Given the description of an element on the screen output the (x, y) to click on. 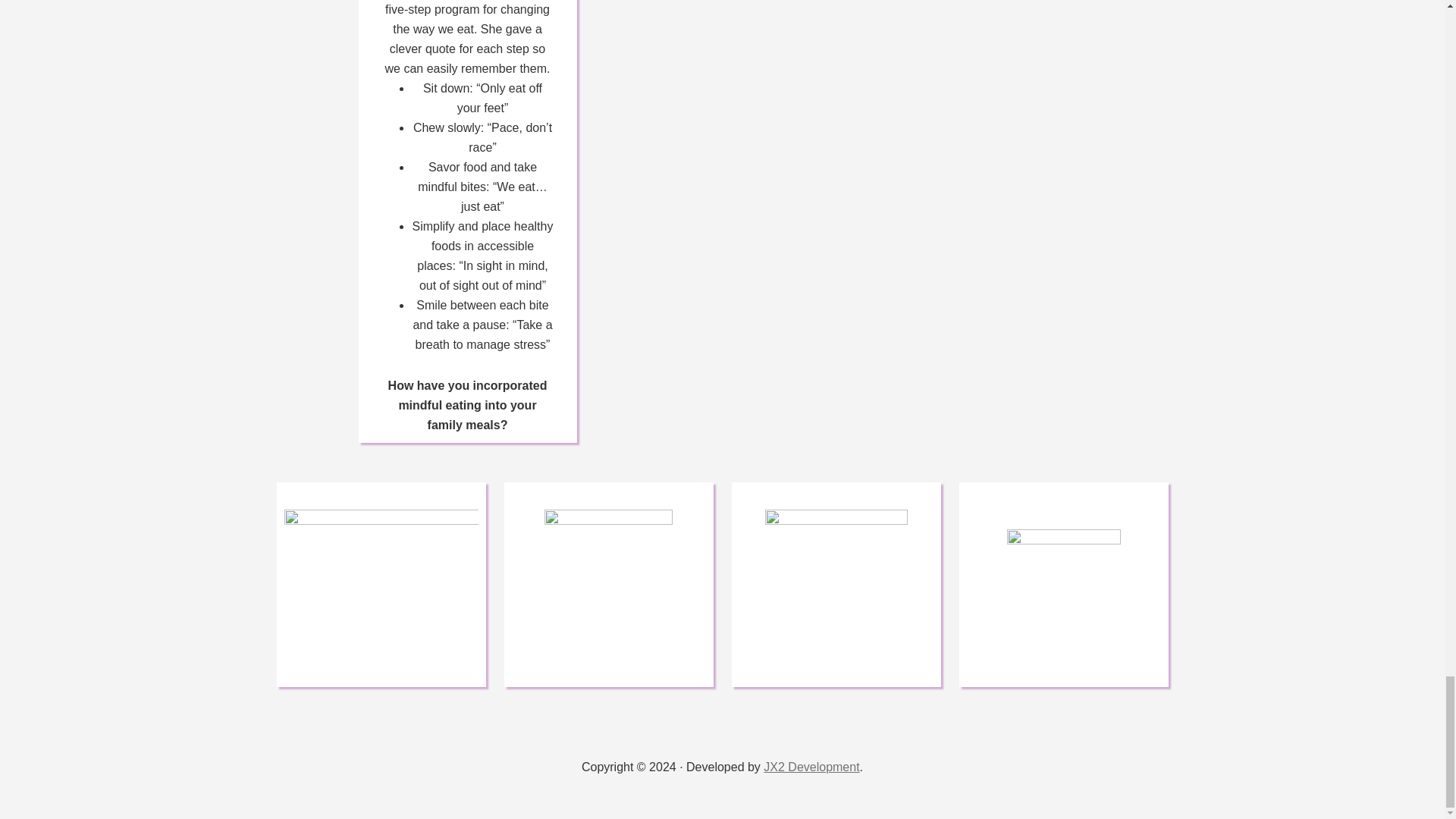
JX2 Development (810, 766)
